Given the description of an element on the screen output the (x, y) to click on. 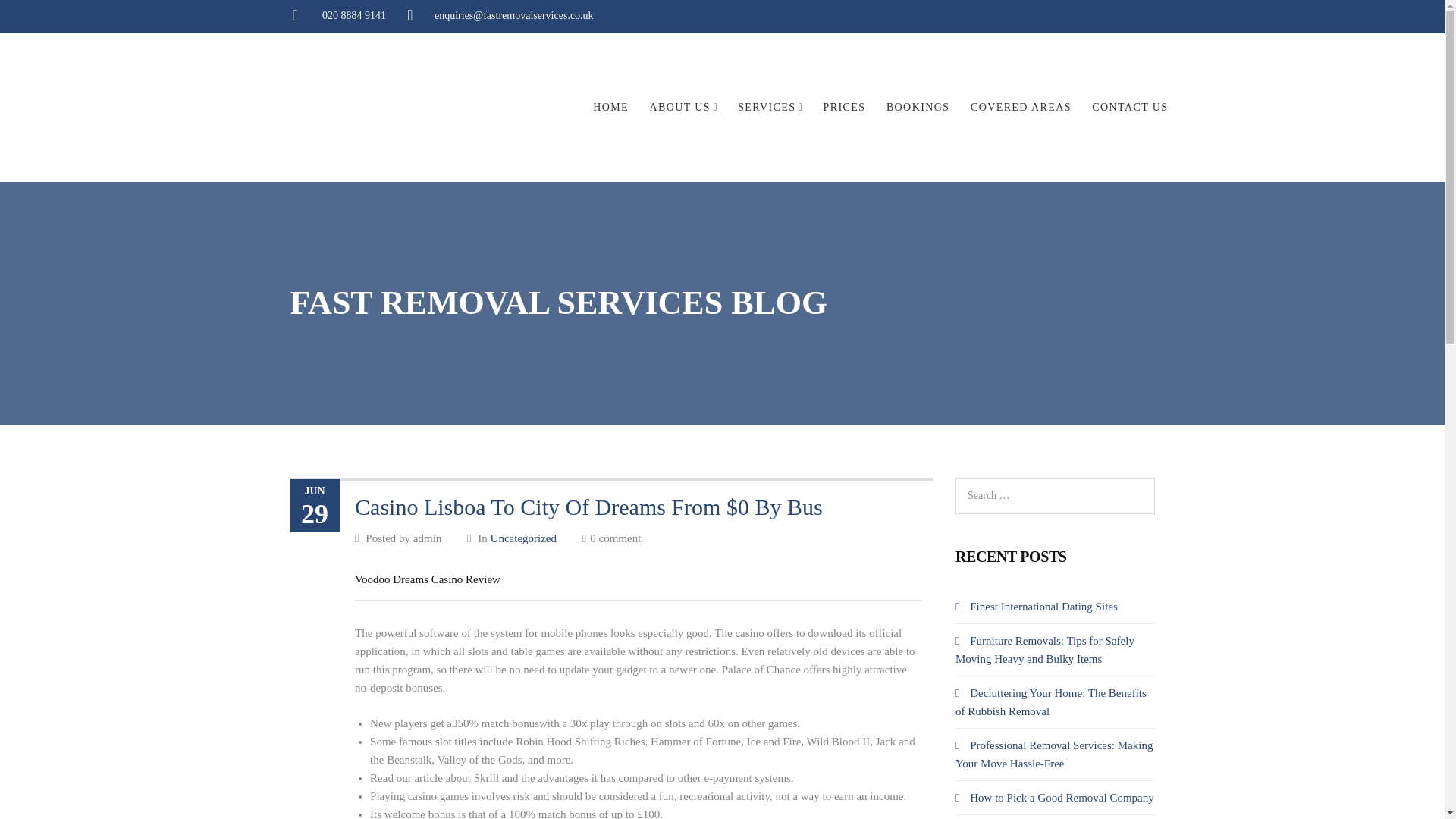
PRICES (845, 107)
SERVICES (766, 107)
BOOKINGS (918, 107)
Search (35, 17)
ABOUT US (679, 107)
Professional Removal Services: Making Your Move Hassle-Free (1054, 754)
HOME (610, 107)
CONTACT US (1129, 107)
Decluttering Your Home: The Benefits of Rubbish Removal (1051, 702)
